Given the description of an element on the screen output the (x, y) to click on. 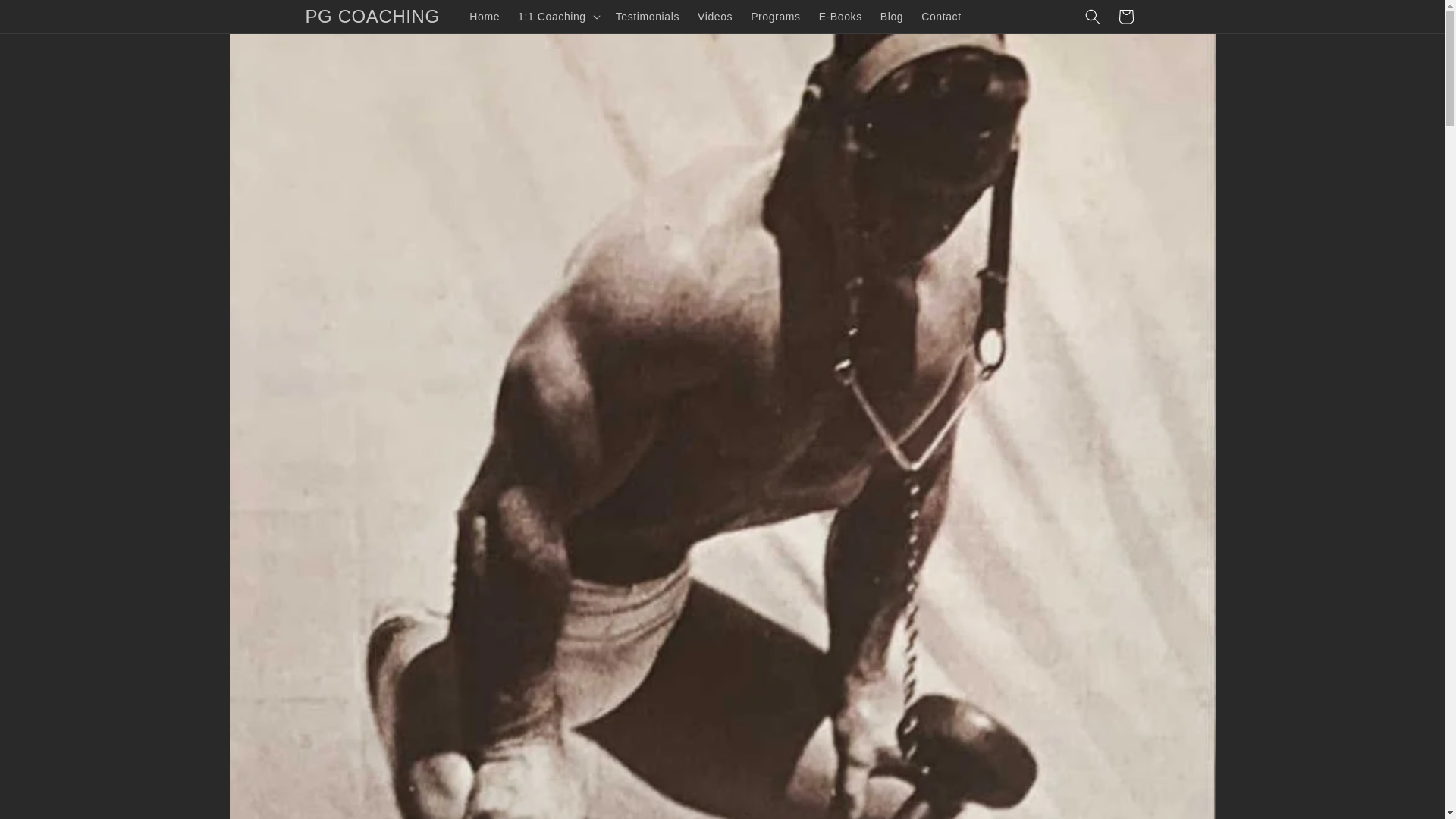
Testimonials (647, 16)
E-Books (839, 16)
Blog (891, 16)
Programs (775, 16)
Videos (714, 16)
Contact (940, 16)
Skip to content (45, 17)
PG COACHING (372, 16)
Cart (1124, 16)
Home (484, 16)
